Given the description of an element on the screen output the (x, y) to click on. 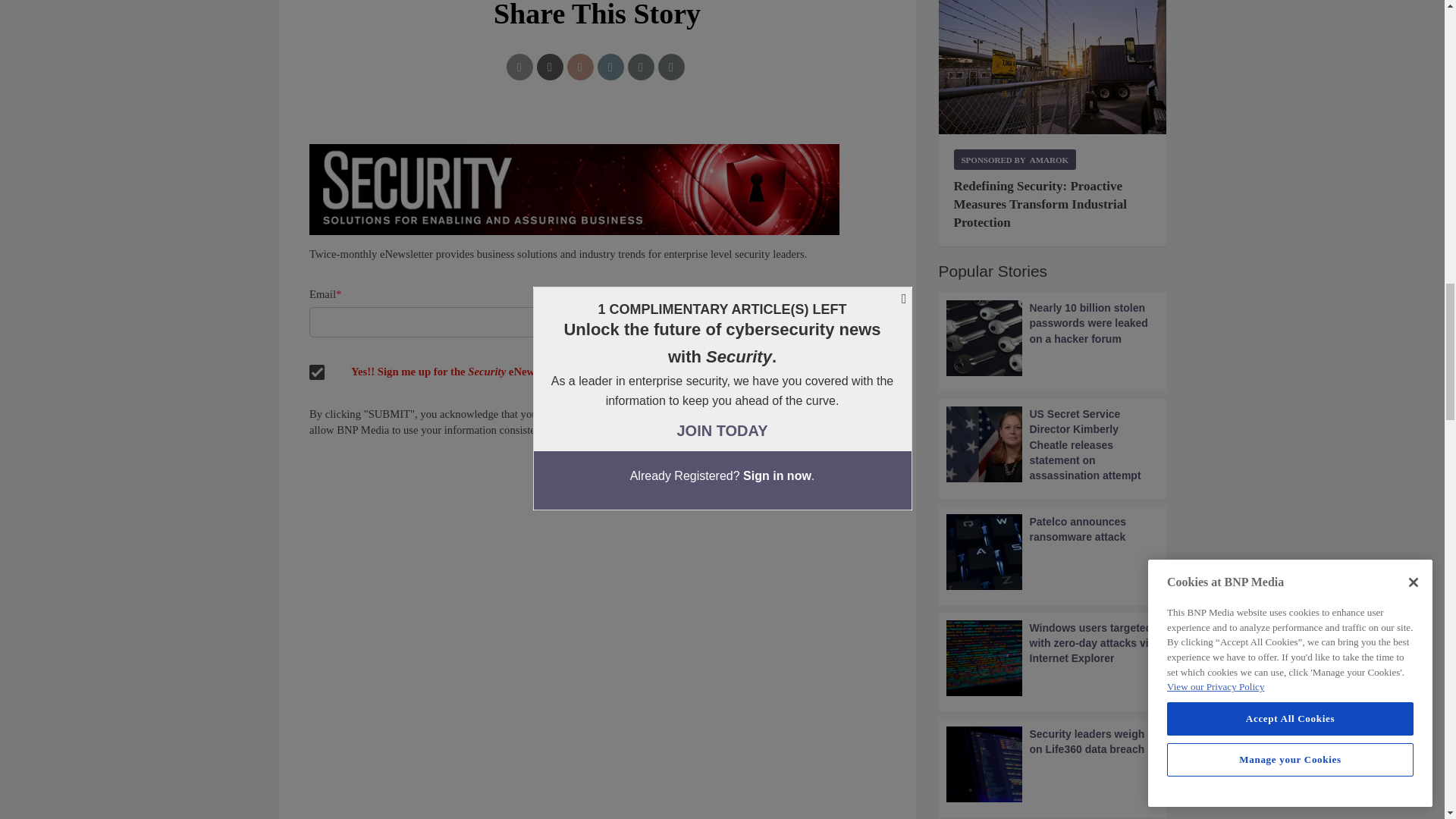
Patelco announces ransomware attack (1052, 551)
AMAROK Security Gate (1052, 67)
Security leaders weigh in on Life360 data breach (1052, 764)
Sponsored by AMAROK (1015, 159)
